Given the description of an element on the screen output the (x, y) to click on. 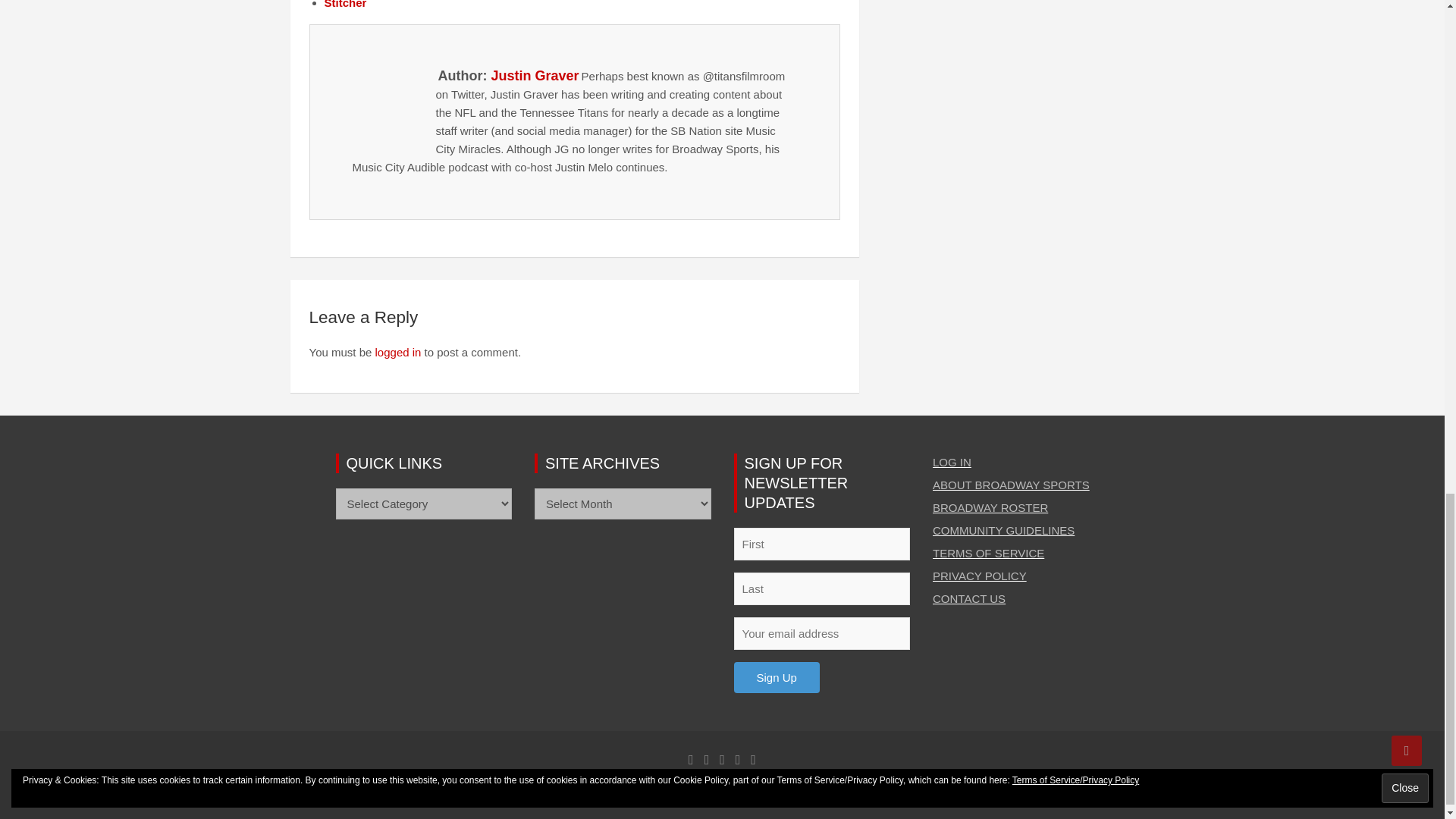
Broadway Sports Media (536, 789)
Sign Up (776, 676)
